Given the description of an element on the screen output the (x, y) to click on. 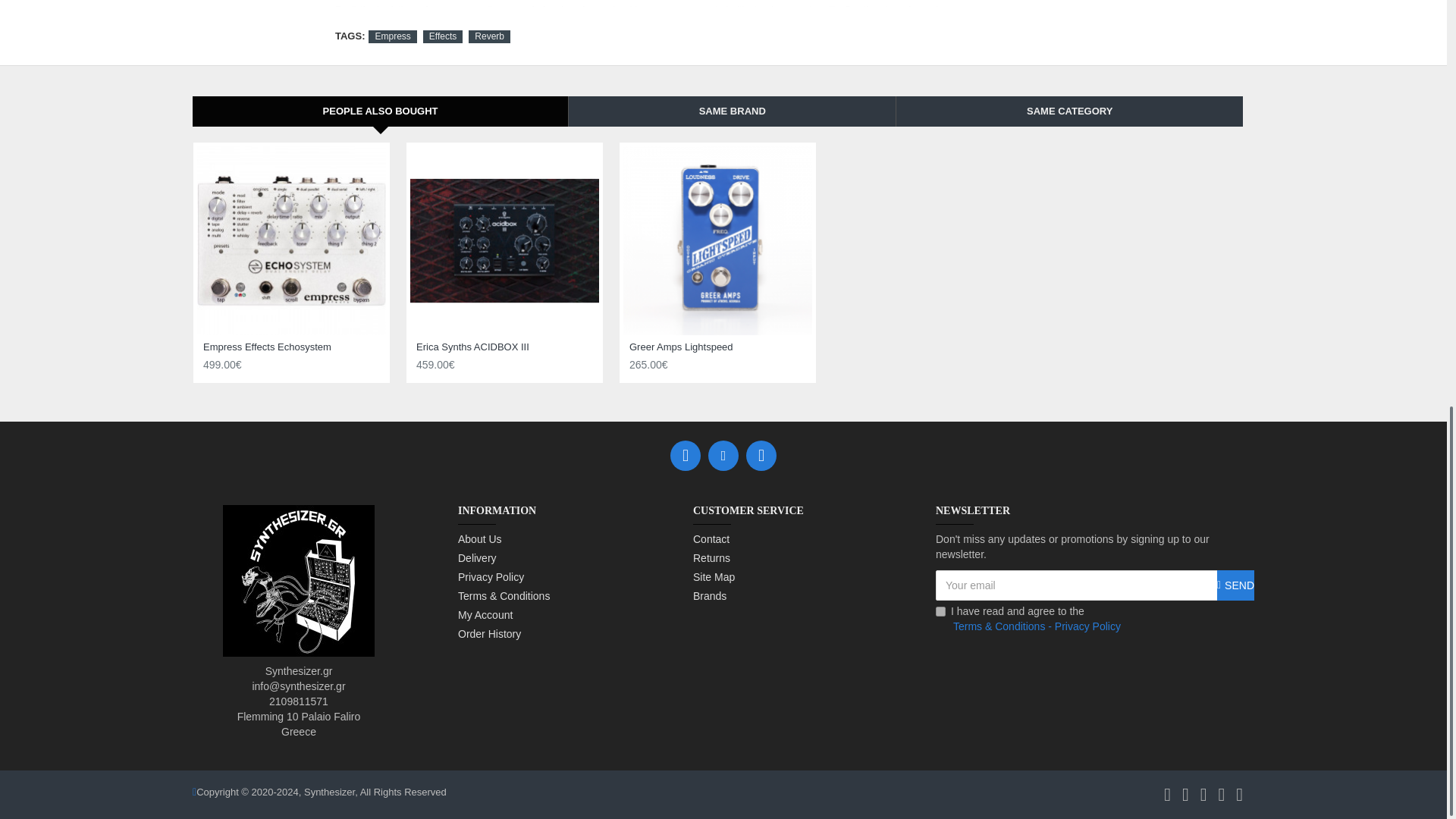
1 (940, 611)
